Given the description of an element on the screen output the (x, y) to click on. 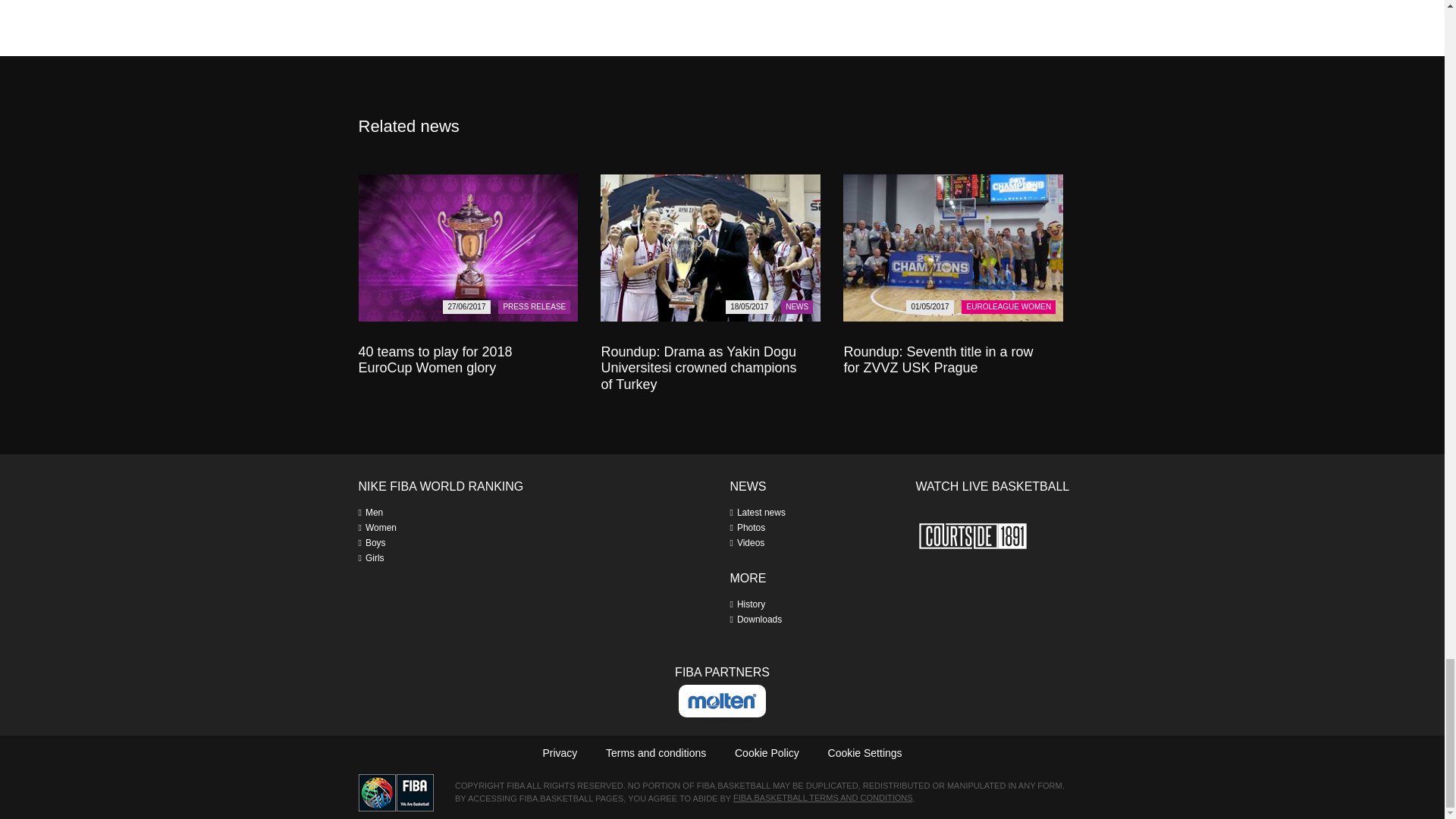
Molten BG5000 Special Website (721, 700)
